Given the description of an element on the screen output the (x, y) to click on. 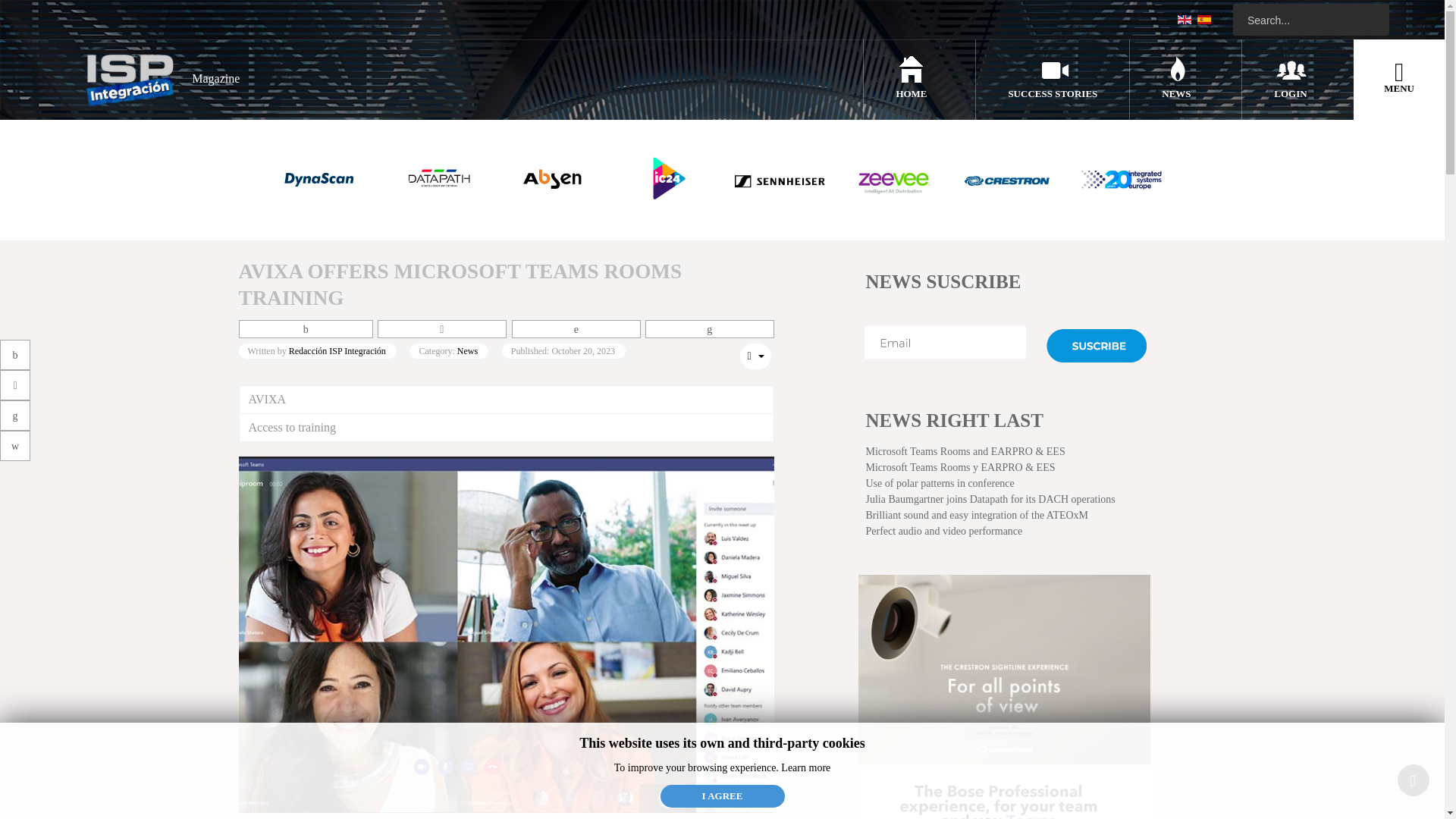
ISP (157, 78)
    Magazine  (157, 78)
Search... (1311, 20)
LOGIN (1290, 93)
HOME (910, 93)
SUCCESS STORIES (1052, 93)
NEWS (1176, 93)
